Given the description of an element on the screen output the (x, y) to click on. 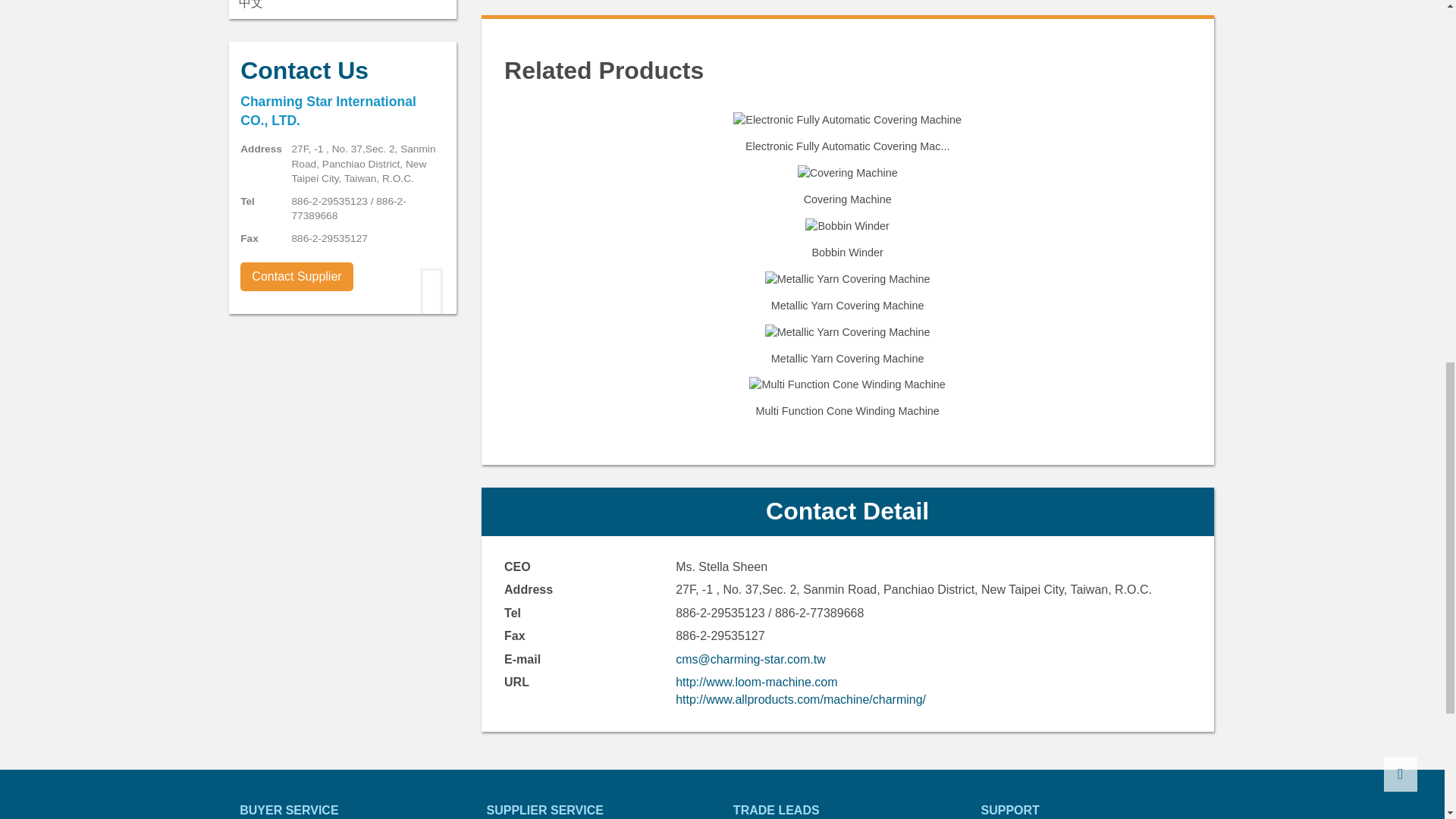
Electronic Fully Automatic Covering Mac... (847, 133)
Multi Function Cone Winding Machine (847, 398)
Electronic Fully Automatic Covering Machine (847, 119)
Metallic Yarn Covering Machine (847, 292)
Contact Supplier (296, 276)
Covering Machine (847, 172)
Multi Function Cone Winding Machine (847, 384)
Bobbin Winder (847, 226)
Metallic Yarn Covering Machine (847, 279)
Metallic Yarn Covering Machine (847, 345)
Bobbin Winder (847, 240)
Metallic Yarn Covering Machine (847, 332)
Covering Machine (847, 187)
